Given the description of an element on the screen output the (x, y) to click on. 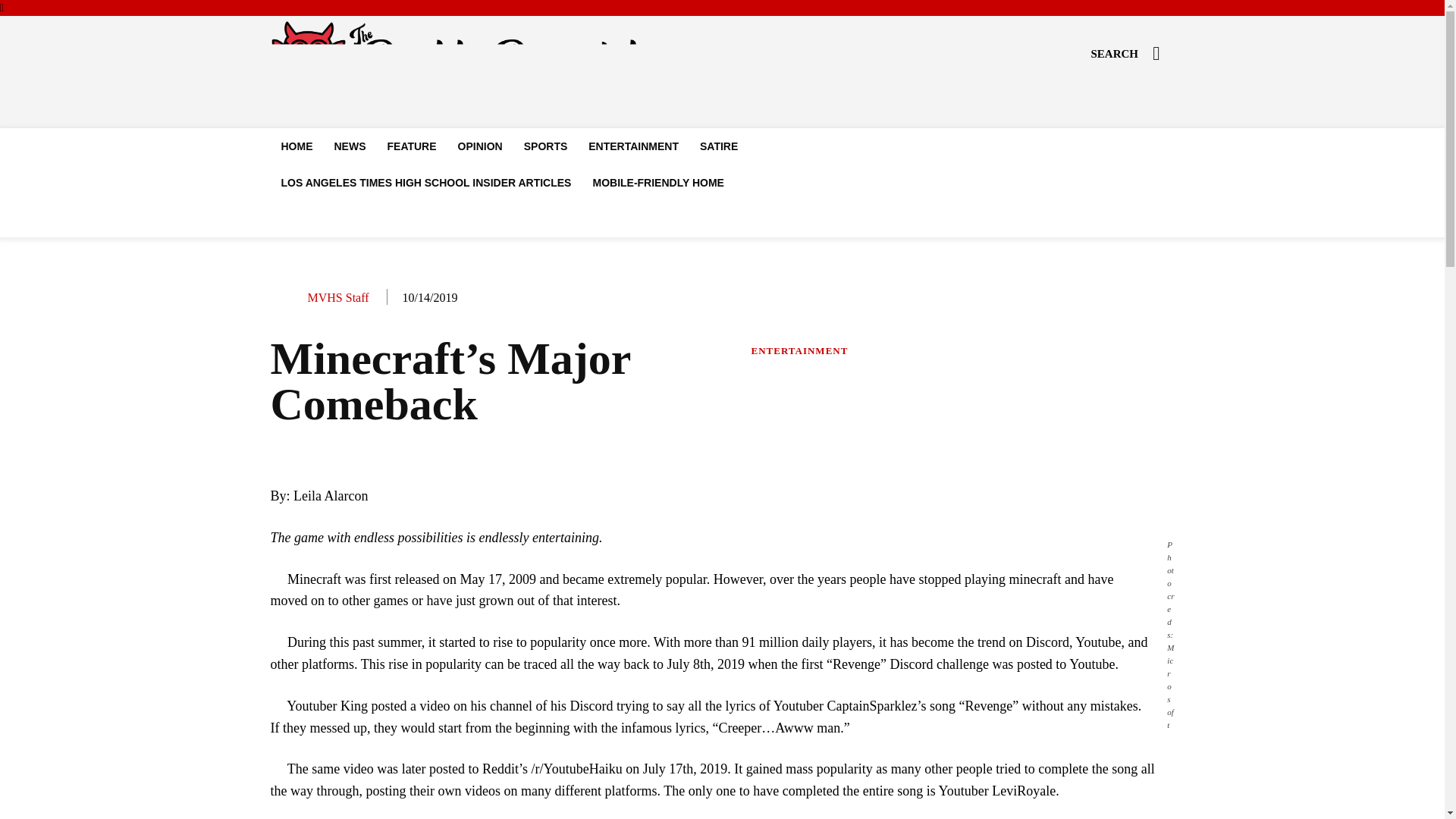
HOME (296, 145)
SPORTS (545, 145)
SEARCH (1131, 53)
MVHS Staff (338, 297)
SATIRE (718, 145)
LOS ANGELES TIMES HIGH SCHOOL INSIDER ARTICLES (424, 182)
MOBILE-FRIENDLY HOME (656, 182)
FEATURE (410, 145)
ENTERTAINMENT (633, 145)
OPINION (479, 145)
